Given the description of an element on the screen output the (x, y) to click on. 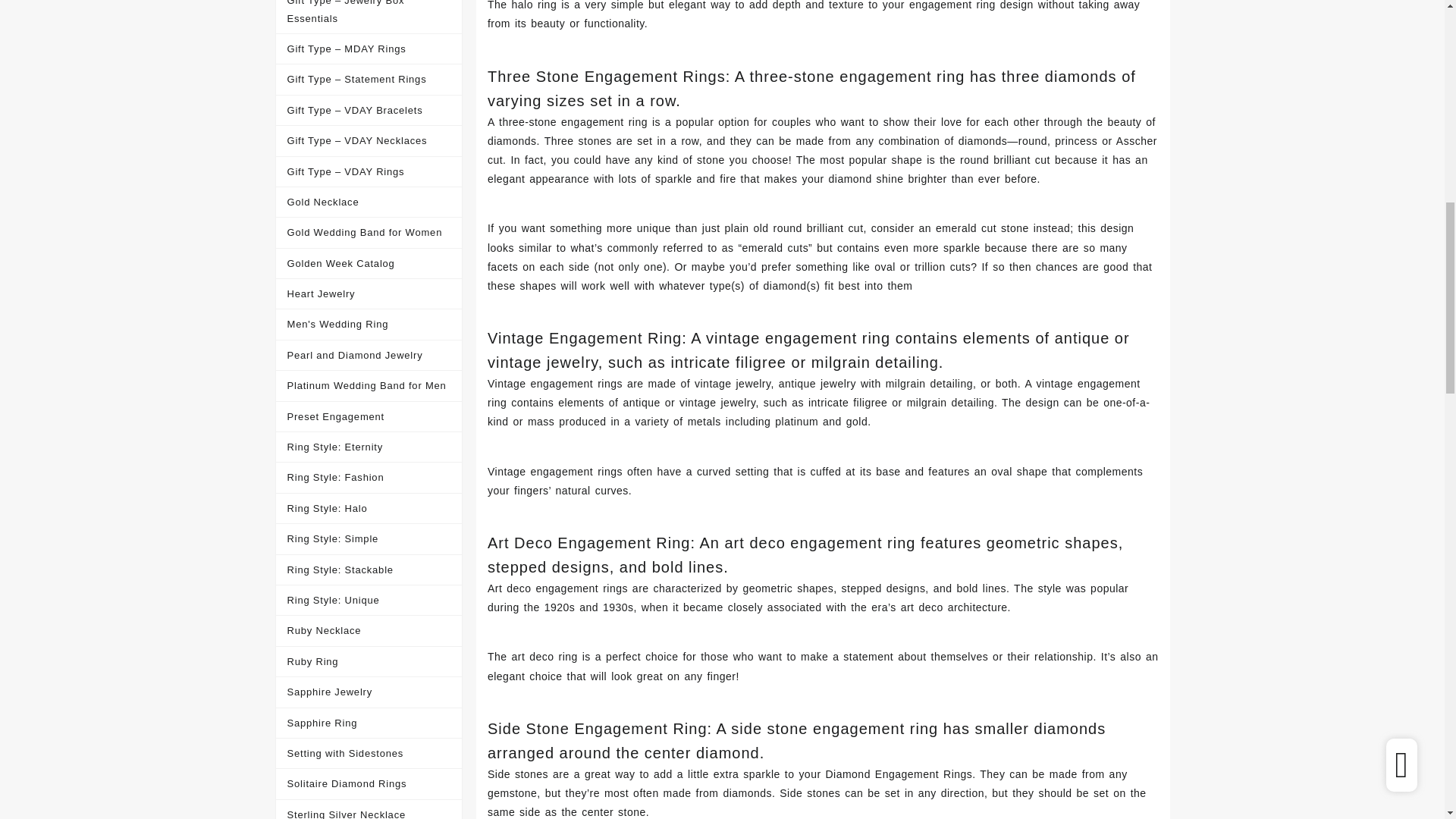
Golden Week Catalog (369, 263)
Heart Jewelry (369, 294)
Gold Necklace (369, 202)
Men's Wedding Ring (369, 324)
Pearl and Diamond Jewelry (369, 355)
Gold Wedding Band for Women (369, 232)
